Given the description of an element on the screen output the (x, y) to click on. 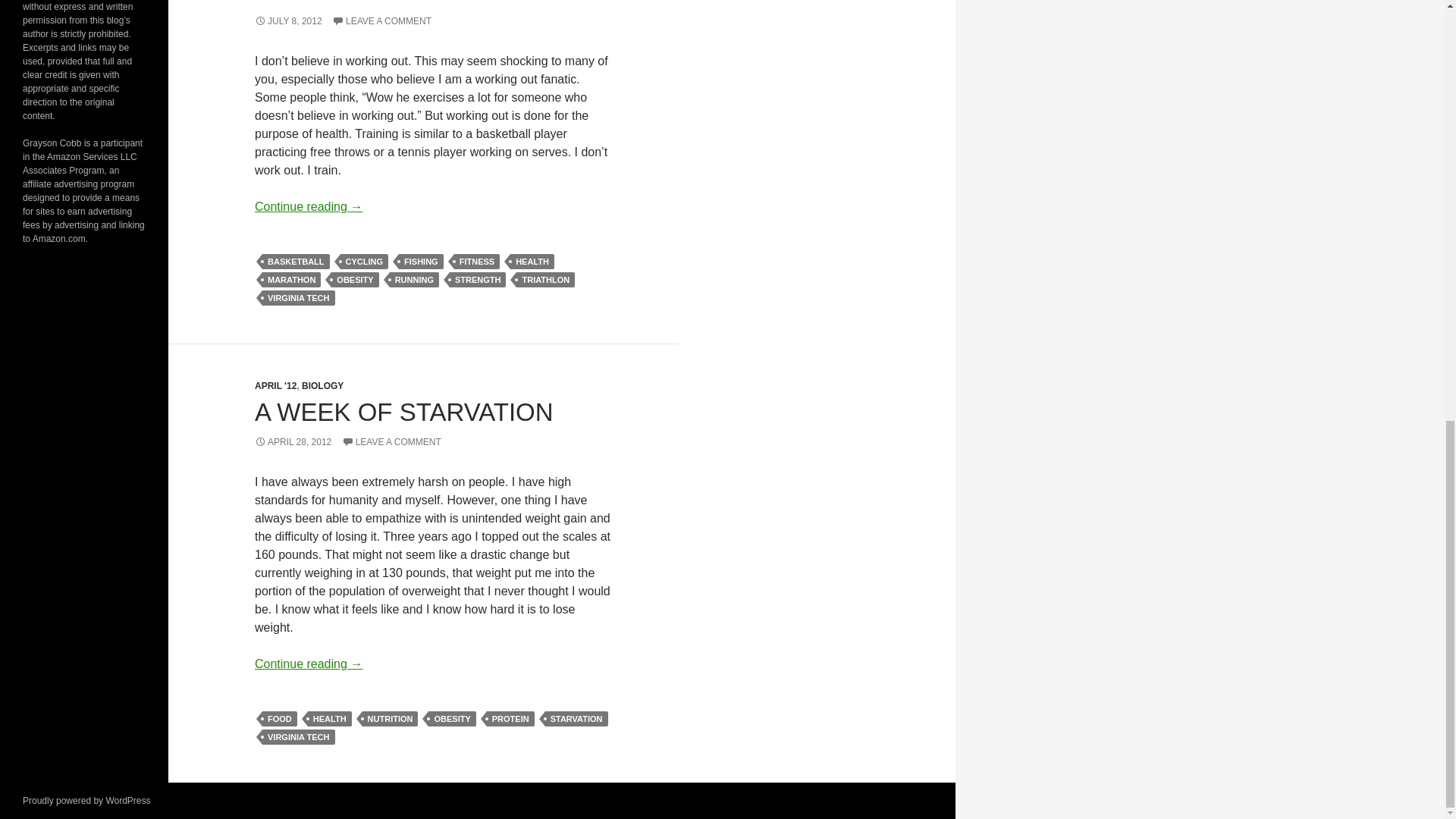
JULY 8, 2012 (287, 20)
LEAVE A COMMENT (380, 20)
FITNESS AS A CONSEQUENCE, NOT A GOAL (395, 2)
